Given the description of an element on the screen output the (x, y) to click on. 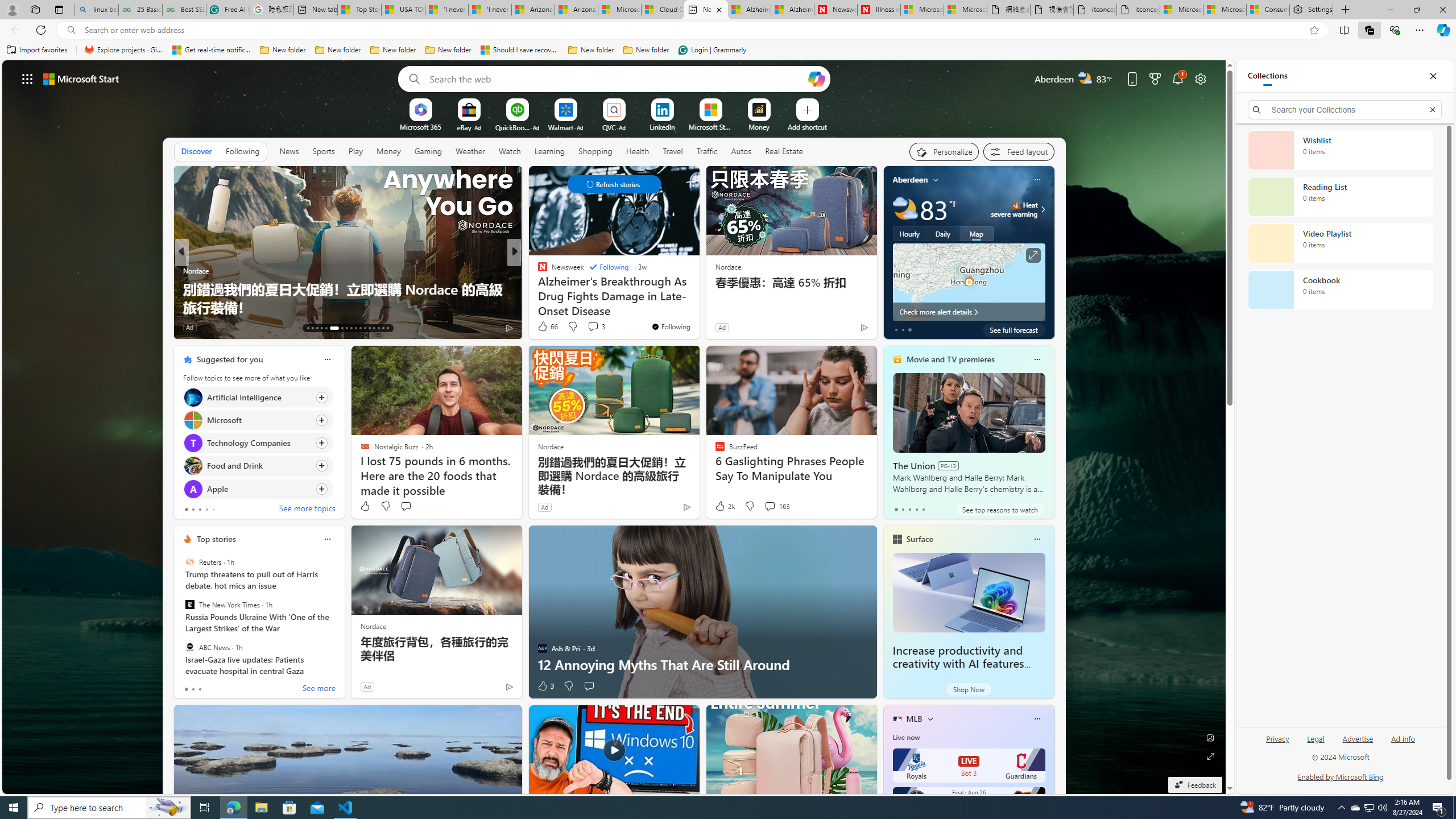
tab-1 (192, 689)
477 Like (545, 327)
Sports (323, 151)
3 Like (545, 685)
AutomationID: waffle (27, 78)
AutomationID: tab-13 (307, 328)
Illness news & latest pictures from Newsweek.com (879, 9)
Class: weather-arrow-glyph (1043, 208)
Page settings (1200, 78)
Heat - Severe Heat severe warning (1014, 208)
Artificial Intelligence (192, 397)
Partly cloudy (904, 208)
View comments 163 Comment (776, 505)
